Given the description of an element on the screen output the (x, y) to click on. 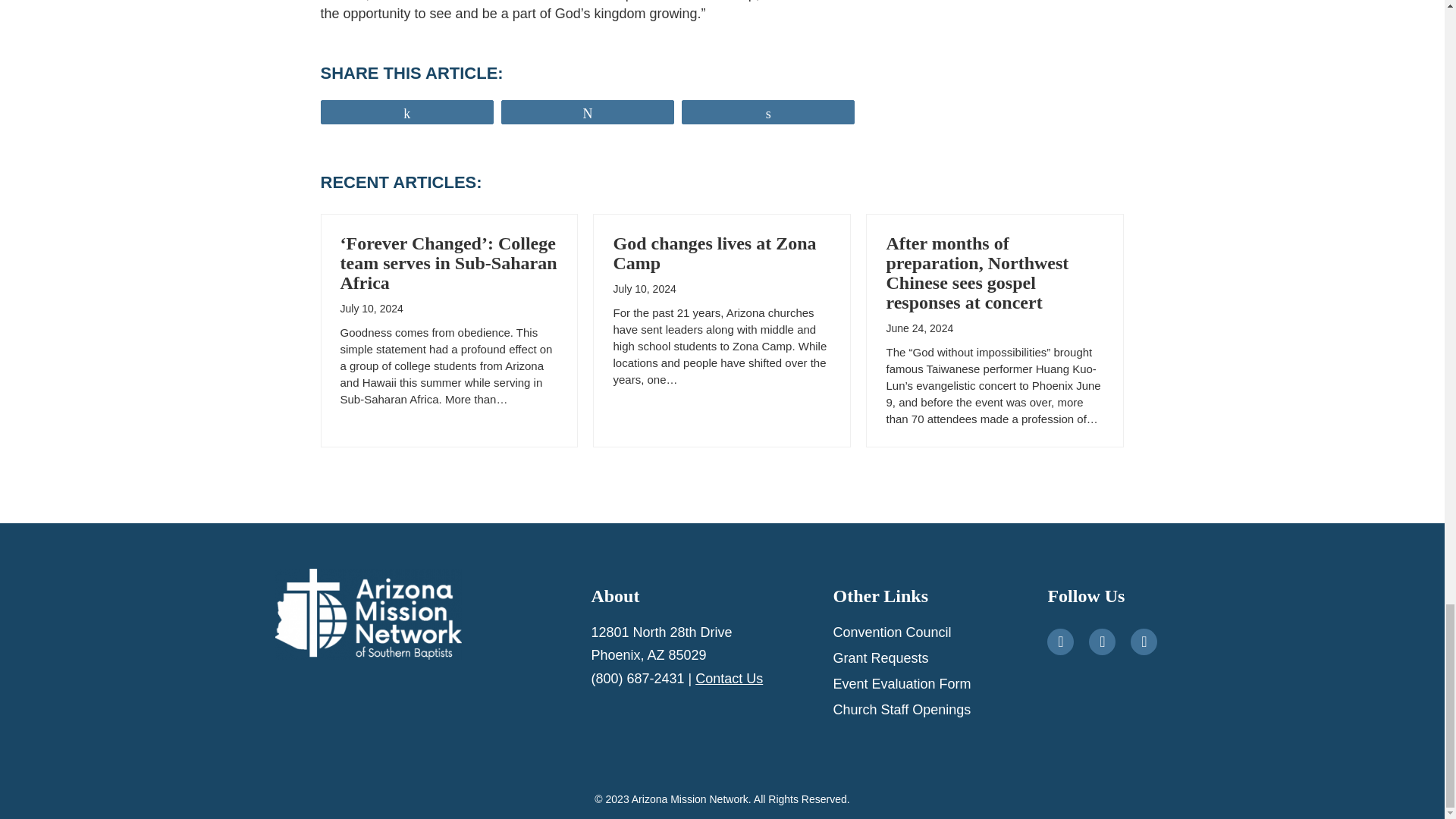
Arizona Mission Network logo White (368, 614)
God changes lives at Zona Camp (713, 252)
